Given the description of an element on the screen output the (x, y) to click on. 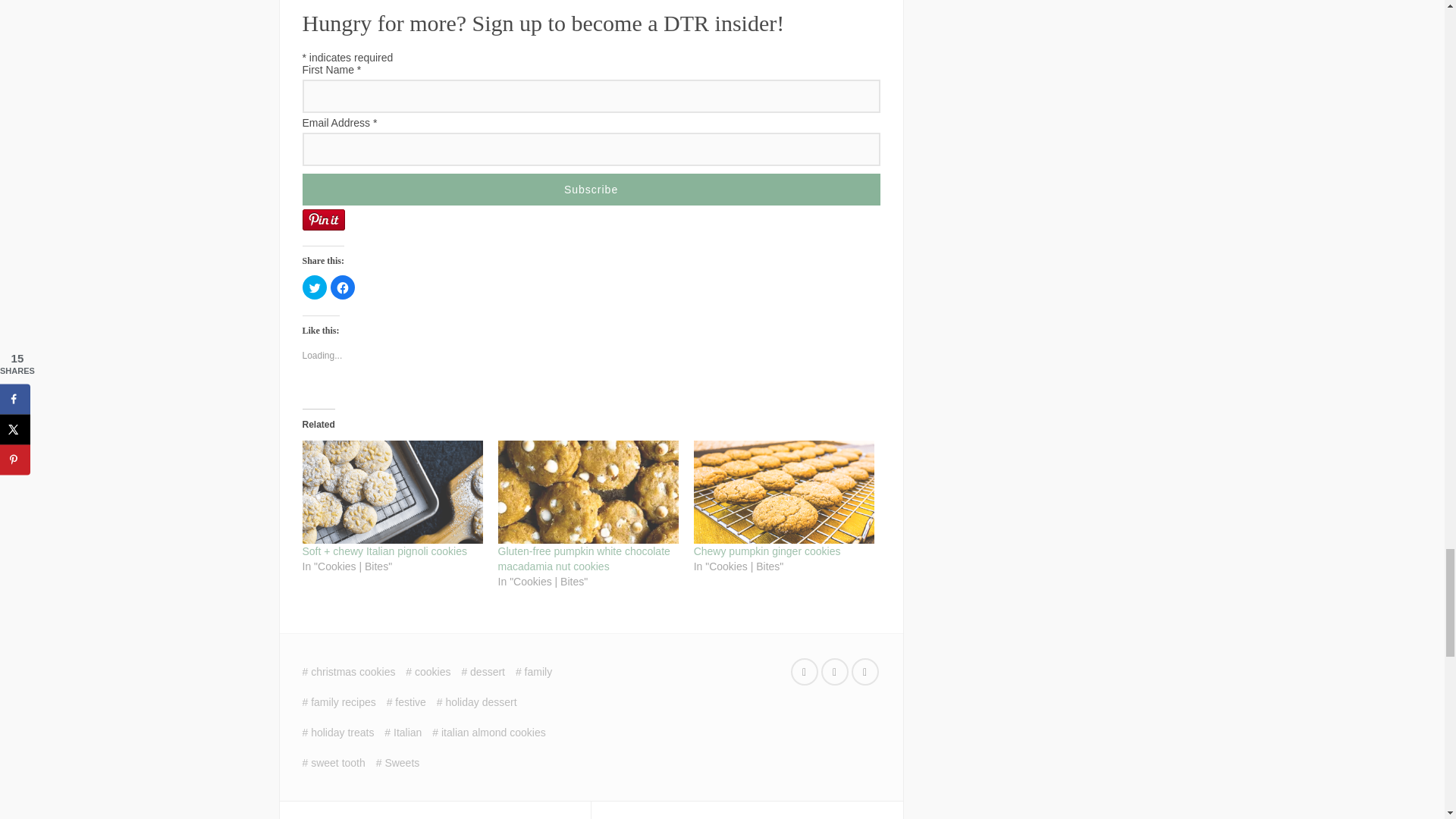
Click to share on Facebook (342, 287)
Gluten-free pumpkin white chocolate macadamia nut cookies (583, 558)
Subscribe (590, 189)
Gluten-free pumpkin white chocolate macadamia nut cookies (587, 491)
Click to share on Twitter (313, 287)
Chewy pumpkin ginger cookies (784, 491)
Chewy pumpkin ginger cookies (767, 551)
